Given the description of an element on the screen output the (x, y) to click on. 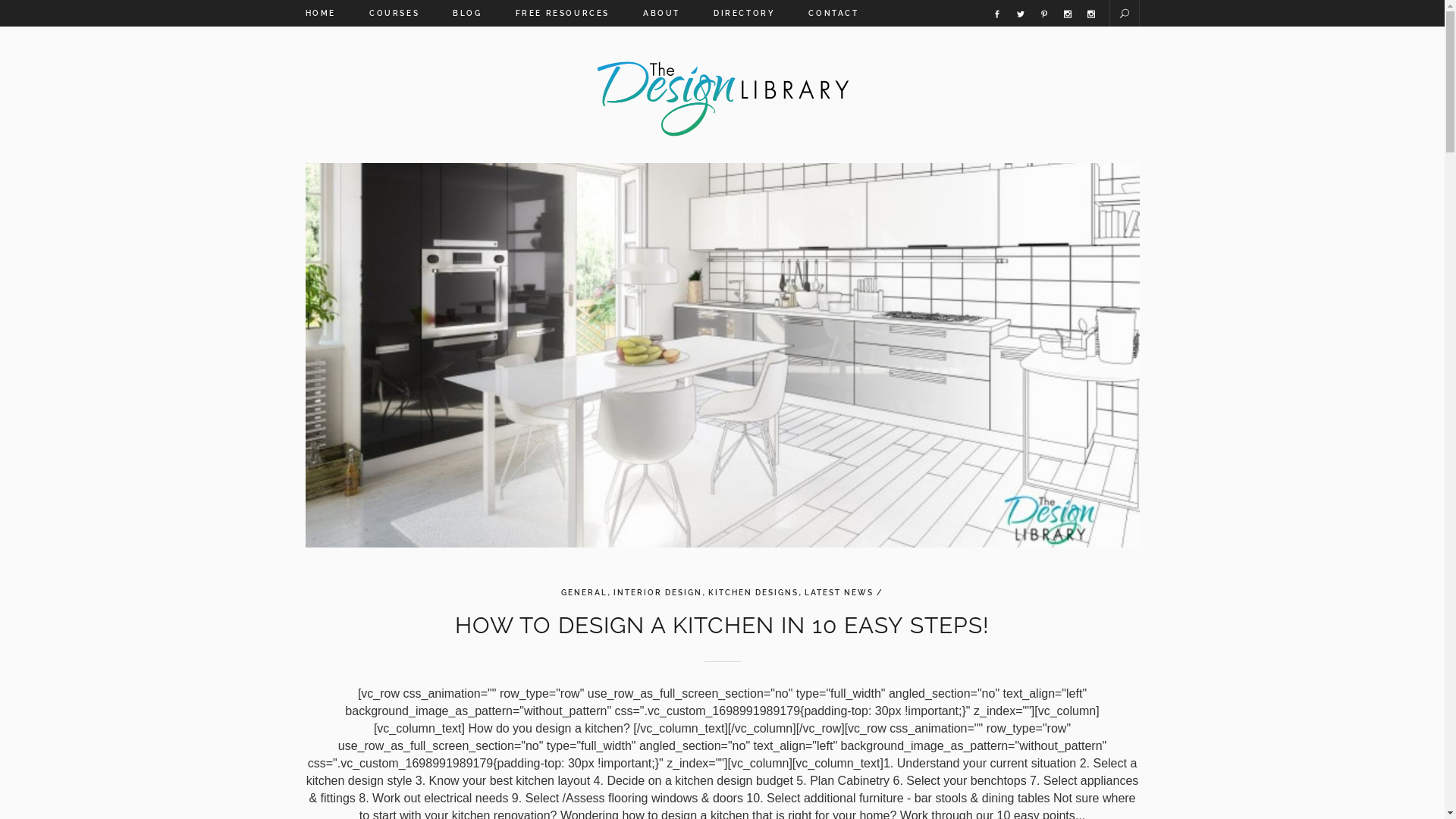
INTERIOR DESIGN Element type: text (657, 592)
How To Design A Kitchen In 10 Easy Steps! Element type: hover (721, 354)
BLOG Element type: text (467, 13)
CONTACT Element type: text (833, 13)
GENERAL Element type: text (584, 592)
LATEST NEWS Element type: text (838, 592)
HOW TO DESIGN A KITCHEN IN 10 EASY STEPS! Element type: text (722, 624)
FREE RESOURCES Element type: text (562, 13)
KITCHEN DESIGNS Element type: text (753, 592)
DIRECTORY Element type: text (743, 13)
HOME Element type: text (327, 13)
ABOUT Element type: text (661, 13)
COURSES Element type: text (394, 13)
